Given the description of an element on the screen output the (x, y) to click on. 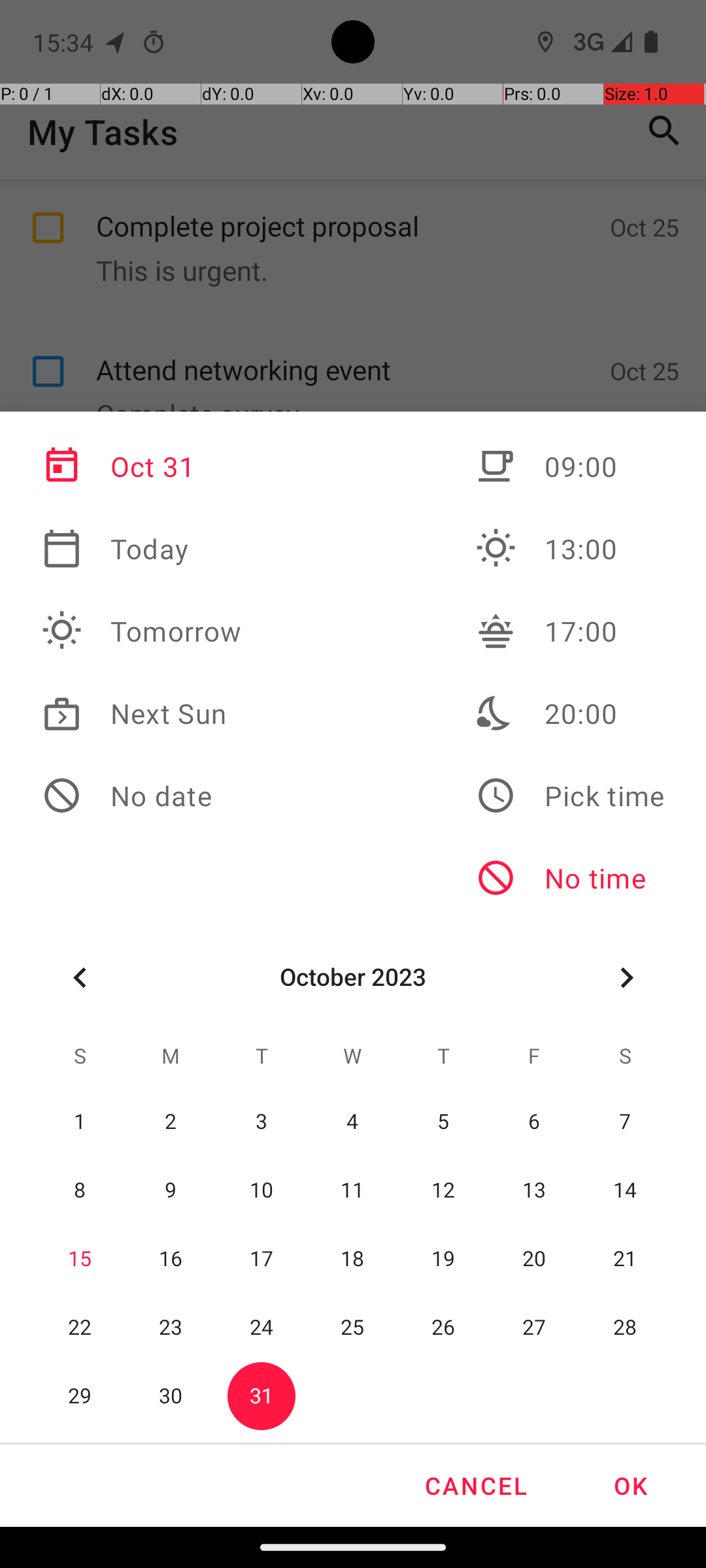
Oct 31 Element type: android.widget.CompoundButton (141, 466)
